Given the description of an element on the screen output the (x, y) to click on. 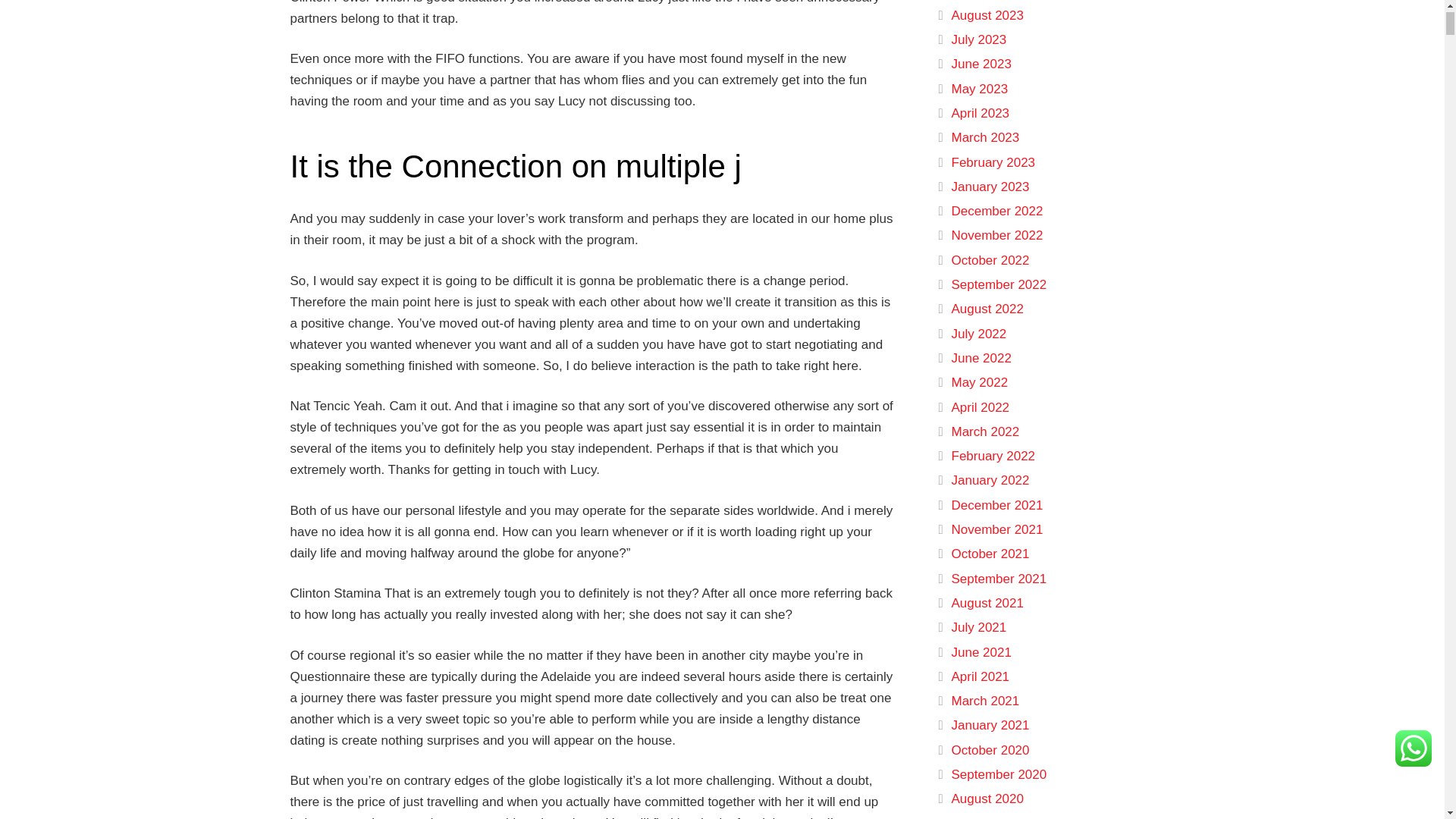
April 2023 (979, 113)
June 2023 (980, 63)
January 2023 (989, 186)
November 2022 (996, 235)
December 2022 (996, 210)
Back to top (1413, 34)
October 2022 (989, 260)
February 2023 (992, 162)
March 2023 (984, 137)
May 2023 (978, 88)
August 2023 (986, 15)
July 2023 (978, 39)
